Given the description of an element on the screen output the (x, y) to click on. 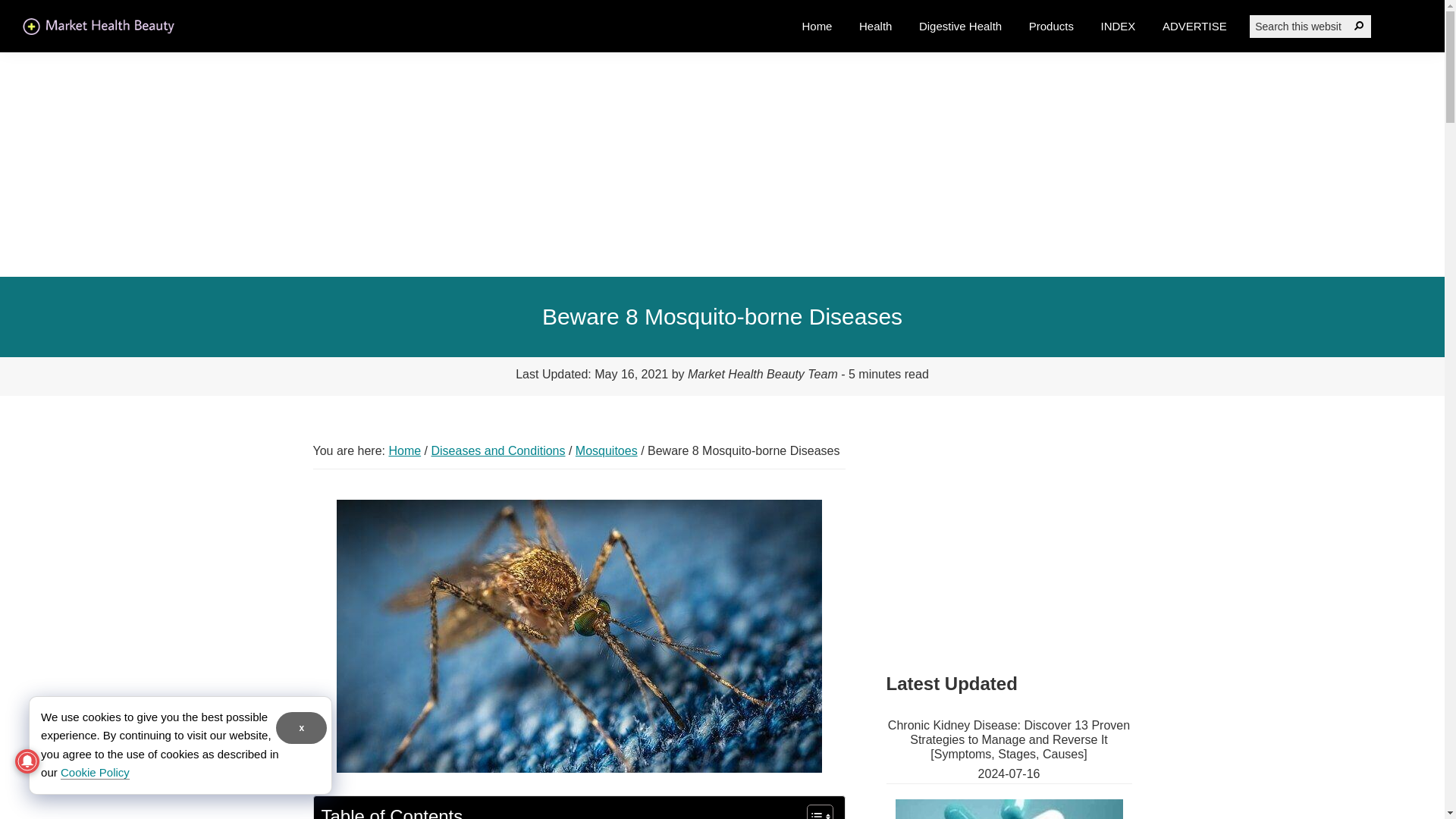
Health (874, 25)
Mosquitoes (606, 450)
Products (1050, 25)
INDEX (1118, 25)
Cookie Policy (95, 772)
ADVERTISE (1195, 25)
Home (404, 450)
Search (1358, 26)
Home (816, 25)
Digestive Health (960, 25)
Diseases and Conditions (497, 450)
x (301, 727)
